Given the description of an element on the screen output the (x, y) to click on. 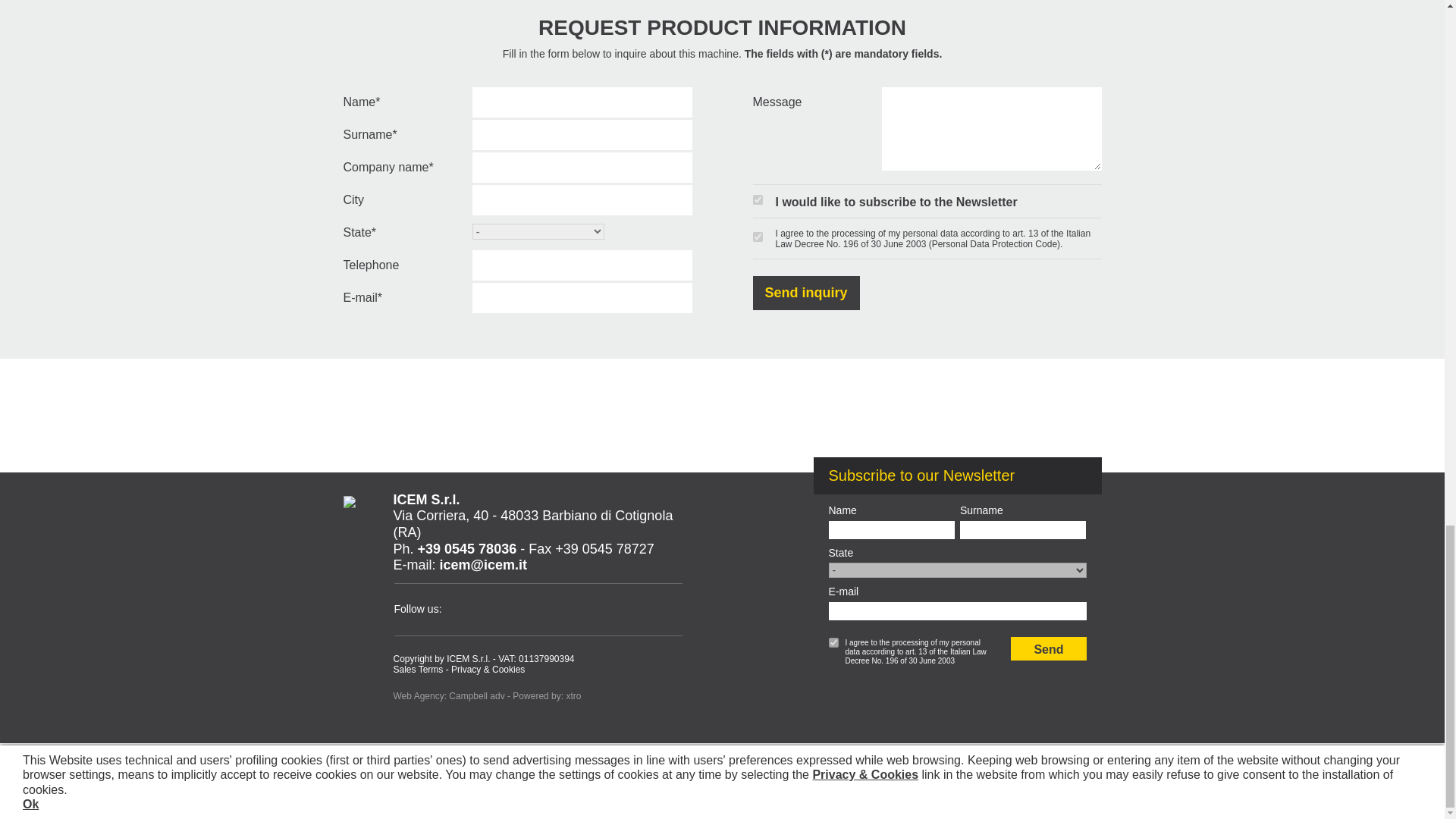
on (756, 199)
on (756, 236)
on (833, 642)
